Given the description of an element on the screen output the (x, y) to click on. 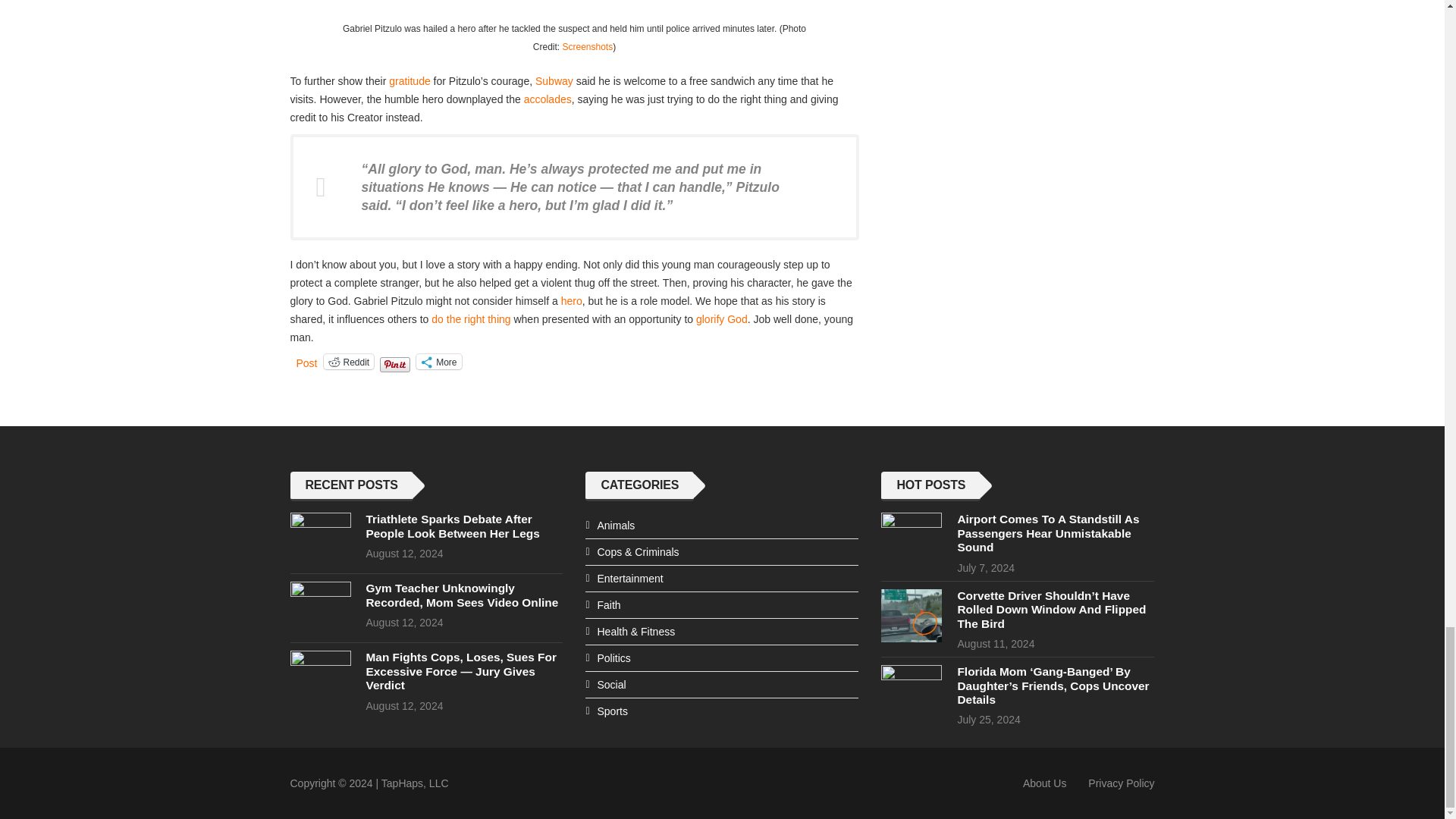
Click to share on Reddit (348, 361)
accolades (548, 99)
Subway (554, 80)
gratitude (408, 80)
Screenshots (587, 46)
